Given the description of an element on the screen output the (x, y) to click on. 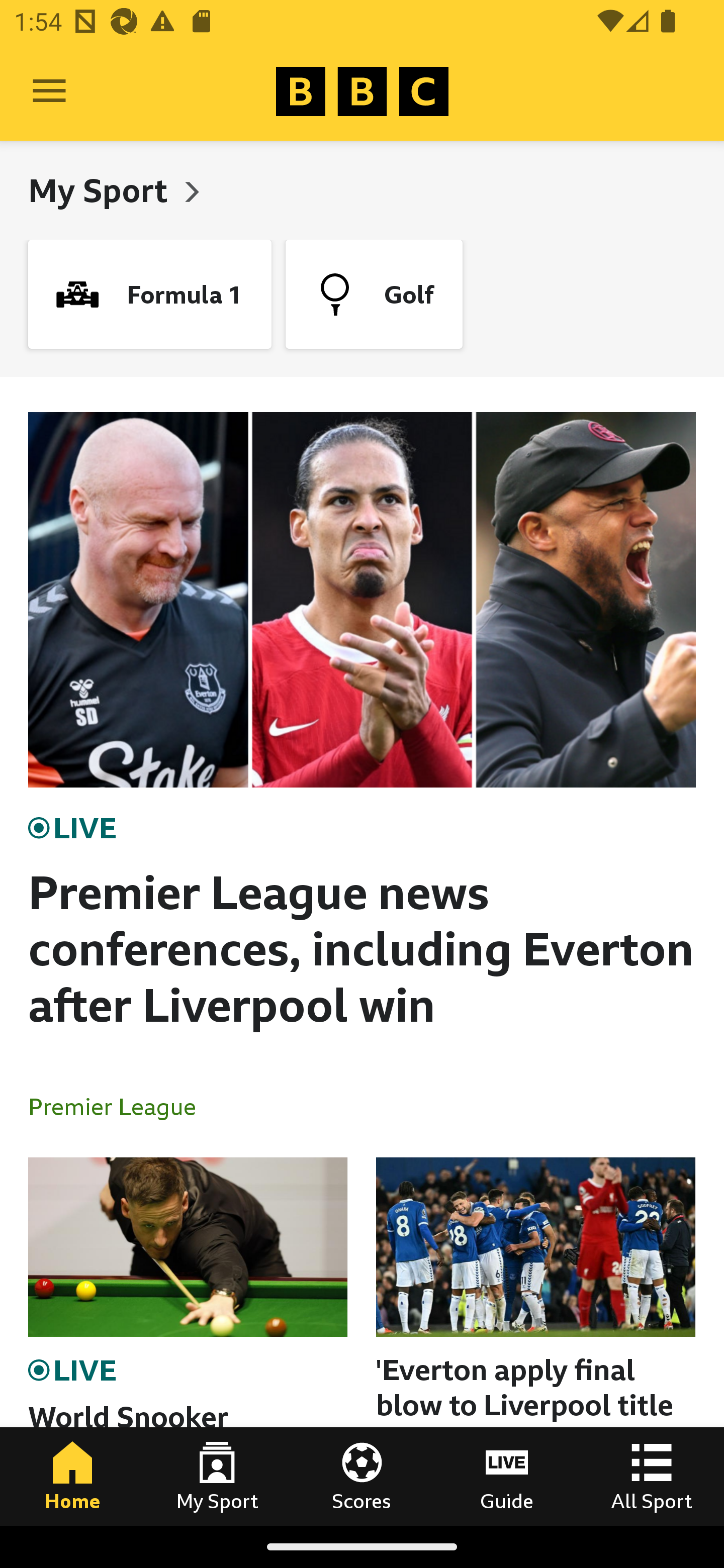
Open Menu (49, 91)
My Sport (101, 190)
Premier League In the section Premier League (119, 1106)
My Sport (216, 1475)
Scores (361, 1475)
Guide (506, 1475)
All Sport (651, 1475)
